Given the description of an element on the screen output the (x, y) to click on. 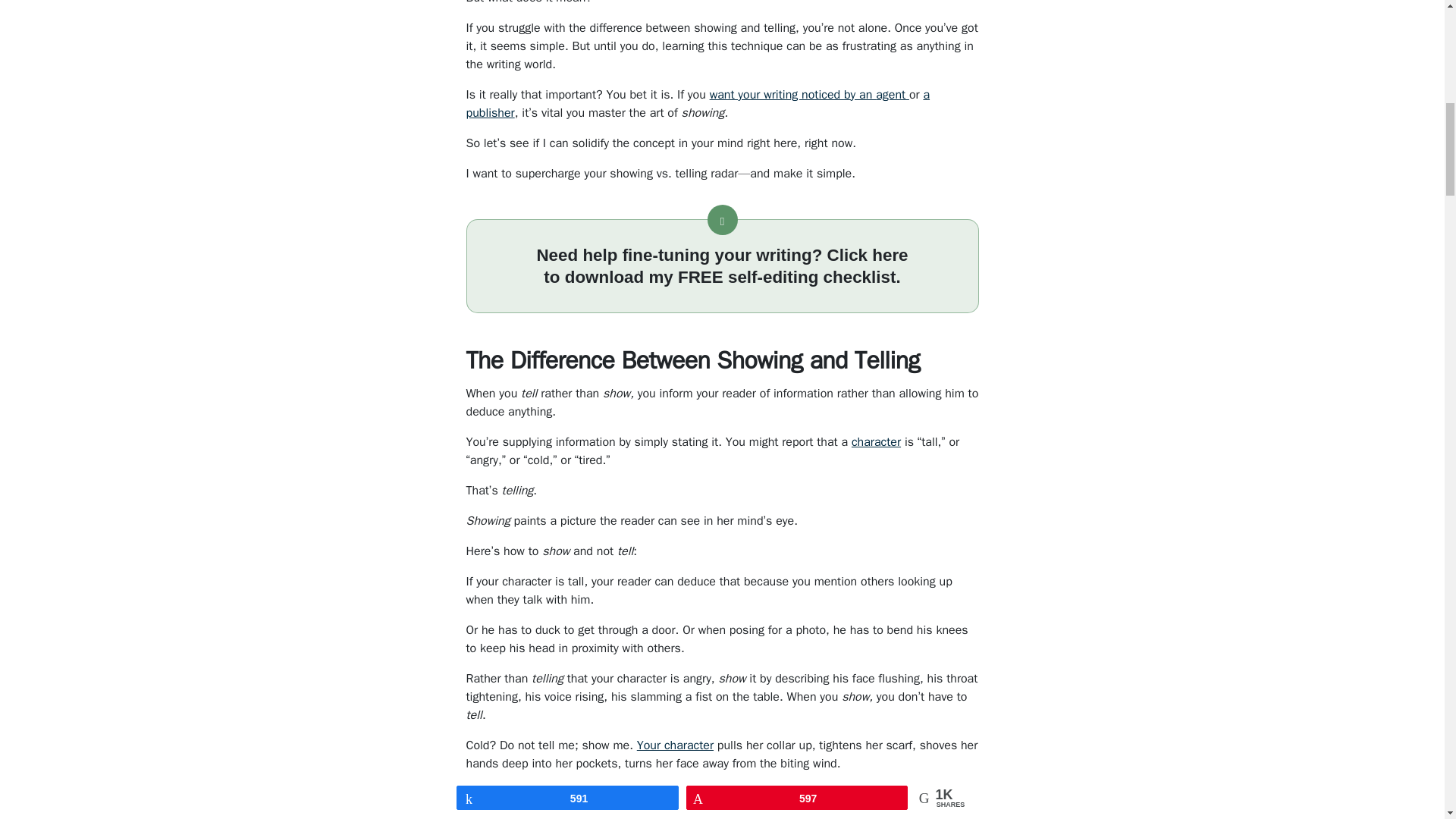
character (876, 441)
a publisher (697, 103)
want your writing noticed by an (793, 94)
agent (892, 94)
Your character (675, 744)
